Given the description of an element on the screen output the (x, y) to click on. 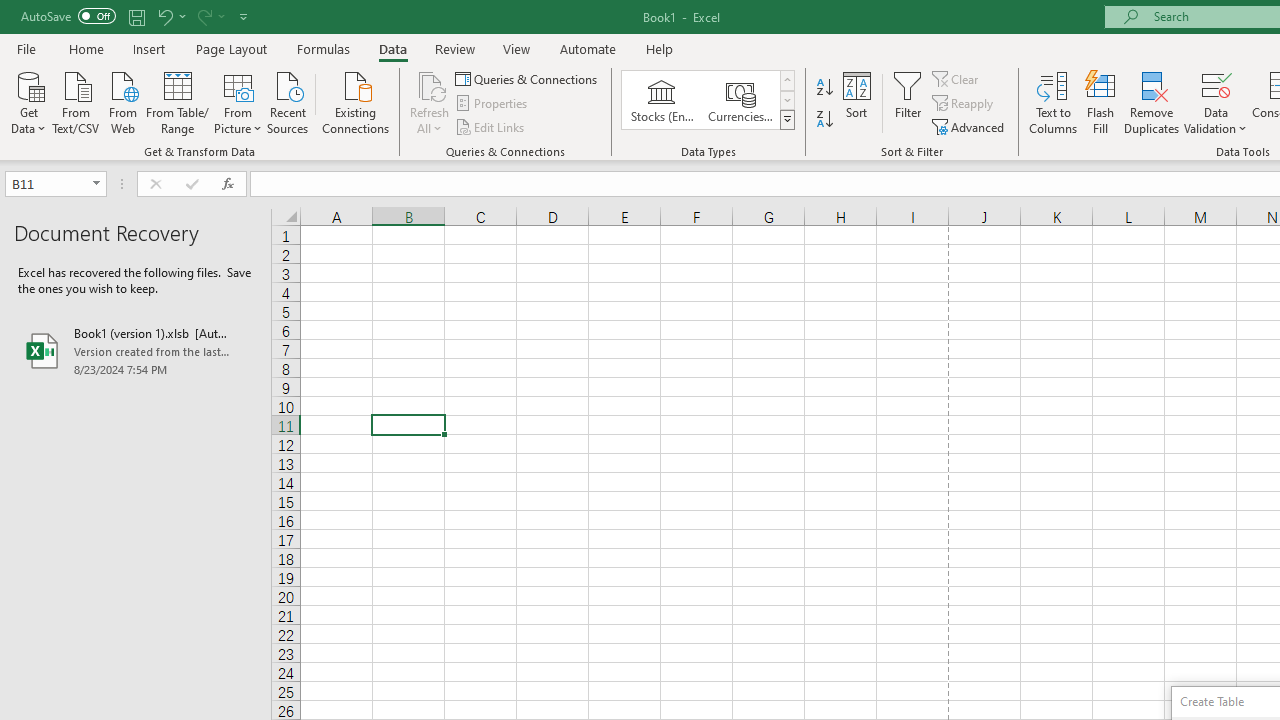
Row Down (786, 100)
Remove Duplicates (1151, 102)
From Web (122, 101)
Sort... (856, 102)
Data Validation... (1215, 102)
Currencies (English) (740, 100)
Filter (908, 102)
